Given the description of an element on the screen output the (x, y) to click on. 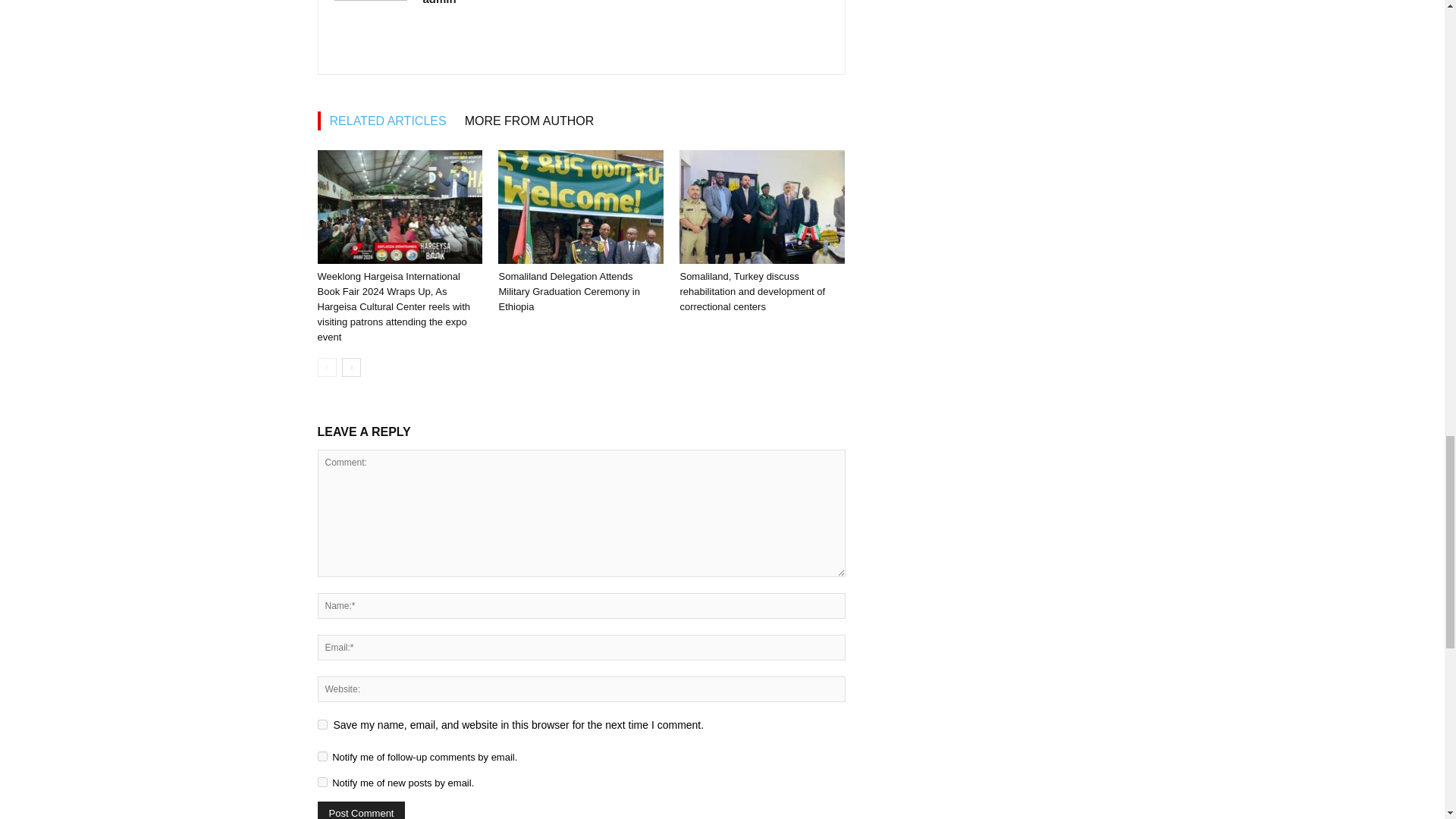
yes (321, 724)
subscribe (321, 756)
Post Comment (360, 810)
subscribe (321, 782)
